Given the description of an element on the screen output the (x, y) to click on. 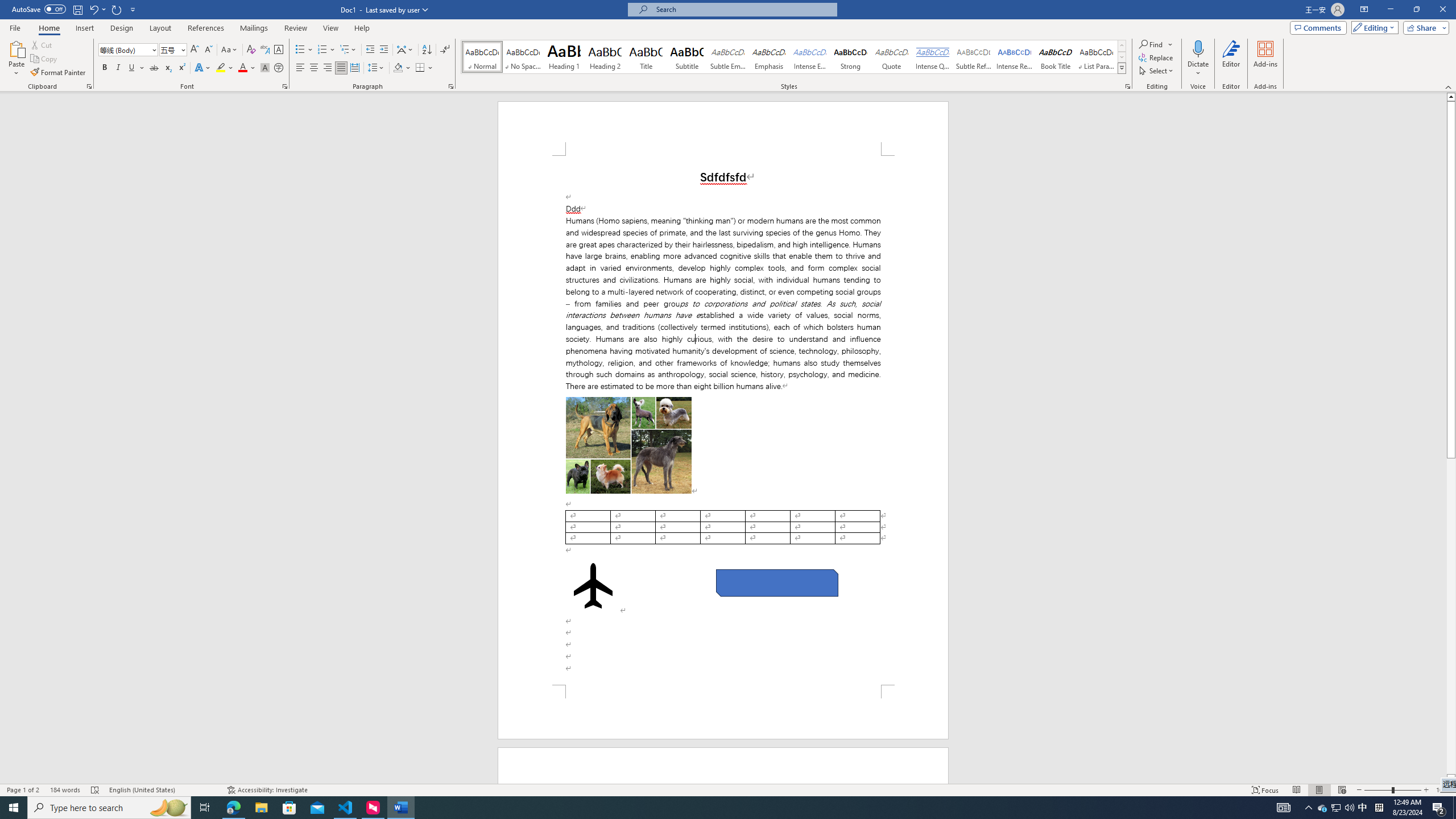
AutomationID: QuickStylesGallery (794, 56)
Bold (104, 67)
Cut (42, 44)
Line up (1450, 96)
Decrease Indent (370, 49)
Shrink Font (208, 49)
Strikethrough (154, 67)
Justify (340, 67)
Font Color (246, 67)
